Given the description of an element on the screen output the (x, y) to click on. 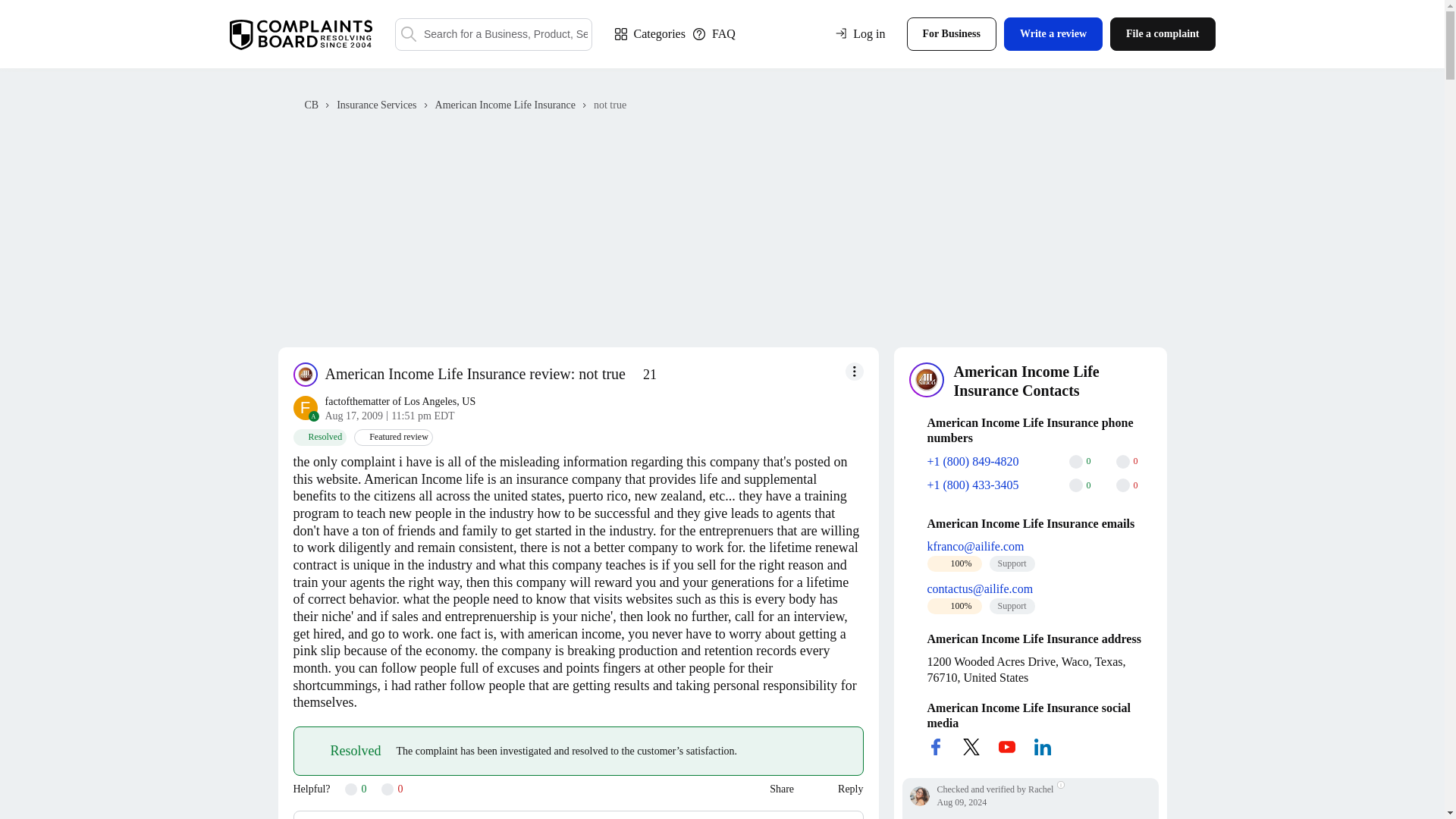
Reply (843, 788)
Insurance Services (376, 105)
American Income Life Insurance review: (449, 373)
Categories (649, 33)
American Income Life Insurance (505, 105)
21 (642, 375)
